Given the description of an element on the screen output the (x, y) to click on. 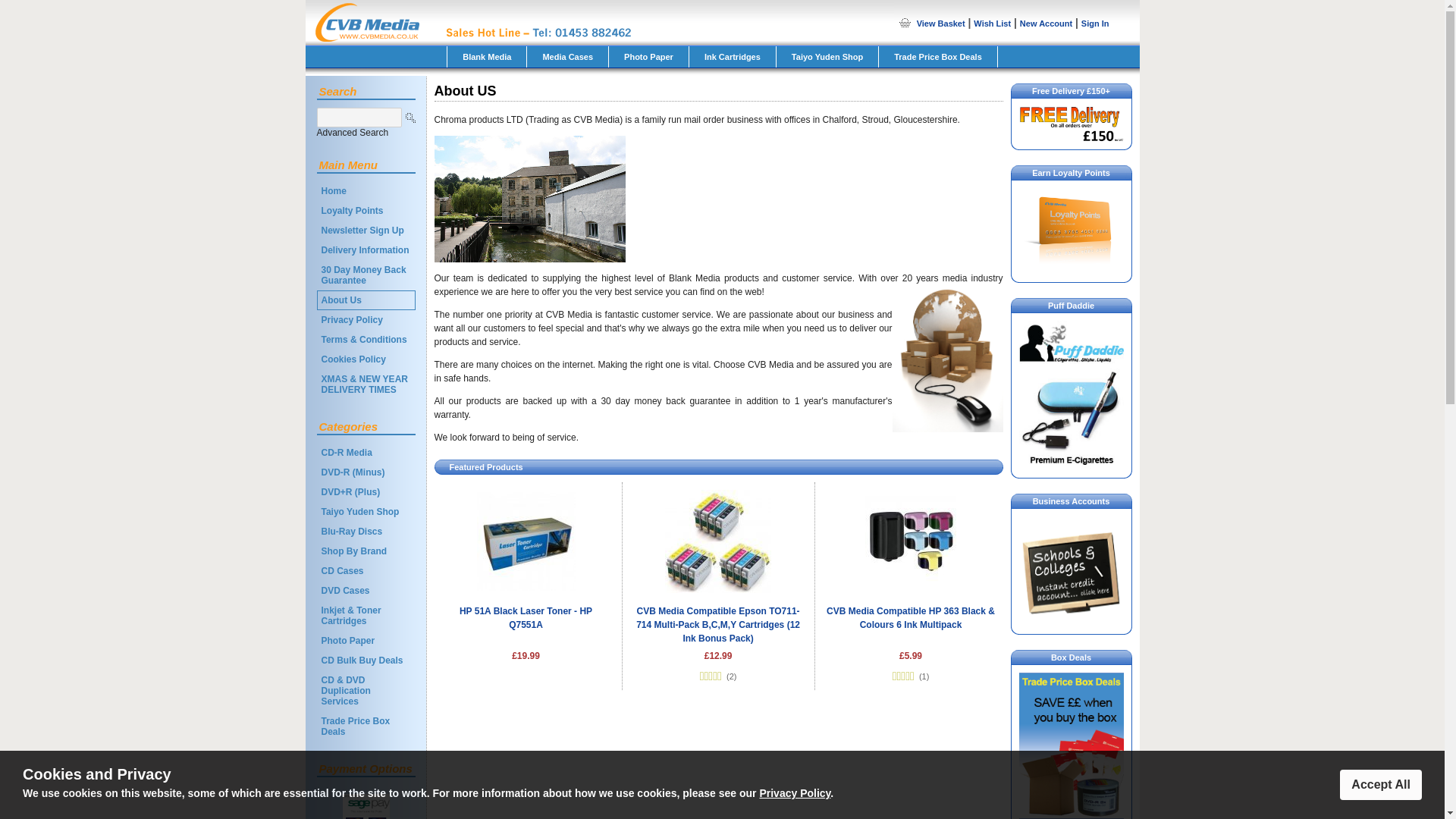
Blu-Ray Discs (365, 531)
Taiyo Yuden Shop (365, 511)
Cookies Policy (365, 359)
Delivery Information (365, 250)
Privacy Policy (365, 320)
Go (409, 117)
CD-R Media (365, 452)
Photo Paper (365, 640)
Advanced Search (352, 132)
Shop By Brand (365, 551)
Loyalty Points (365, 210)
Home (365, 190)
HP 51A Black Laser Toner - HP Q7551A (526, 617)
30 Day Money Back Guarantee (365, 275)
Go (409, 117)
